Given the description of an element on the screen output the (x, y) to click on. 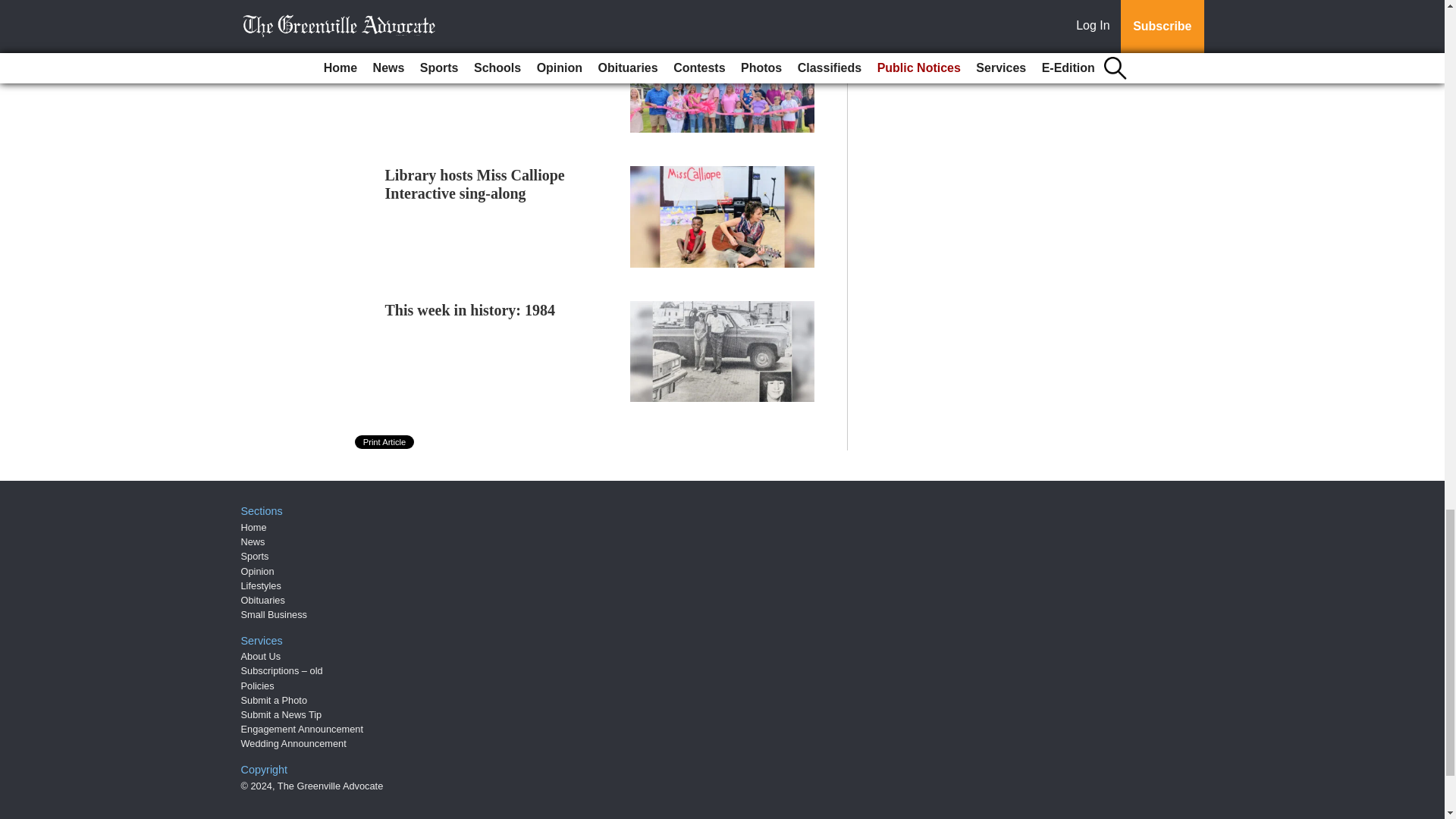
Print Article (384, 441)
Hwy 55 Nutrition changes hands, expands offerings (492, 49)
This week in history: 1984 (469, 310)
Hwy 55 Nutrition changes hands, expands offerings (492, 49)
Home (253, 527)
This week in history: 1984 (469, 310)
Library hosts Miss Calliope Interactive sing-along (474, 184)
Library hosts Miss Calliope Interactive sing-along (474, 184)
